Given the description of an element on the screen output the (x, y) to click on. 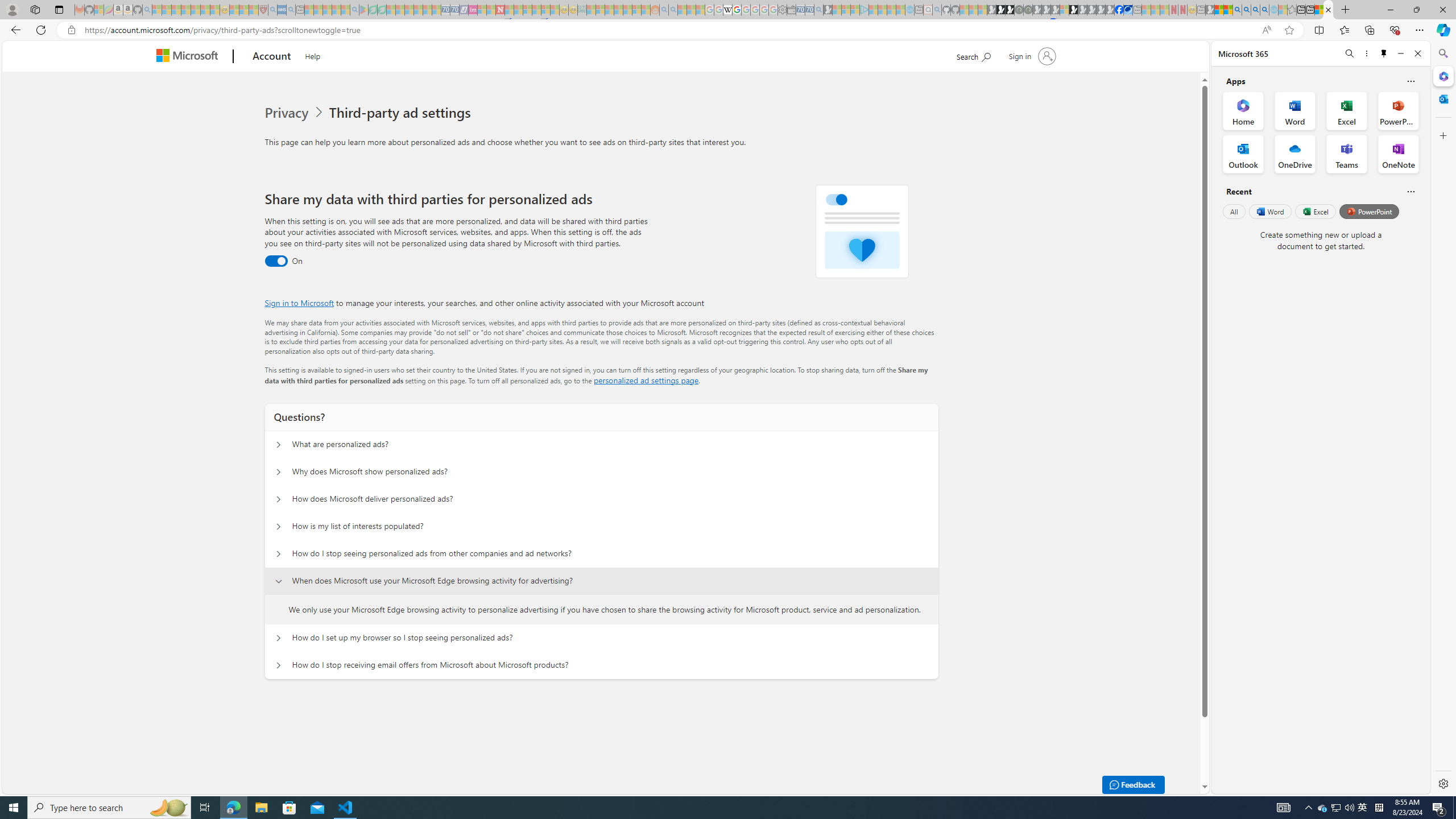
Local - MSN - Sleeping (253, 9)
AirNow.gov (1127, 9)
14 Common Myths Debunked By Scientific Facts - Sleeping (518, 9)
Questions? How is my list of interests populated? (278, 526)
New Report Confirms 2023 Was Record Hot | Watch - Sleeping (195, 9)
All (1233, 210)
Close Microsoft 365 pane (1442, 76)
